Given the description of an element on the screen output the (x, y) to click on. 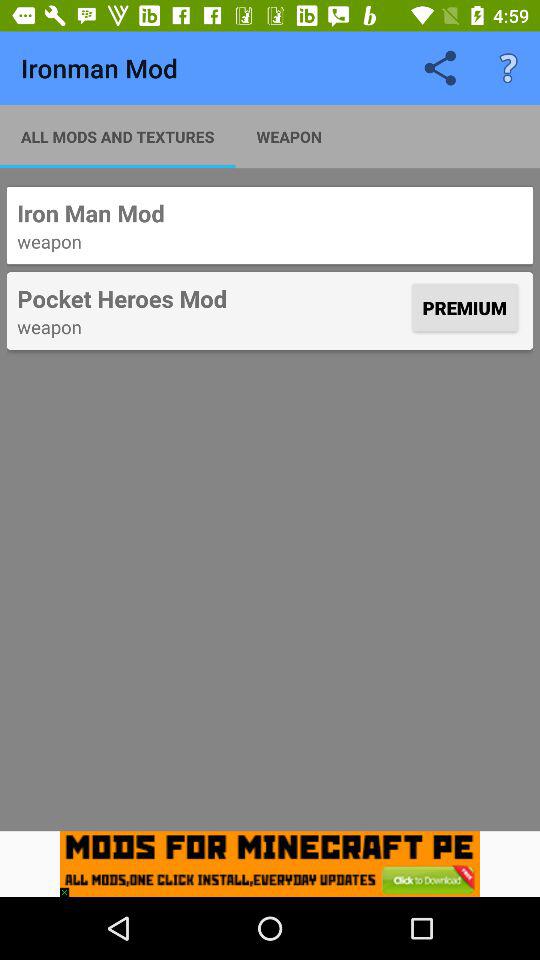
turn on icon above iron man mod icon (117, 136)
